Given the description of an element on the screen output the (x, y) to click on. 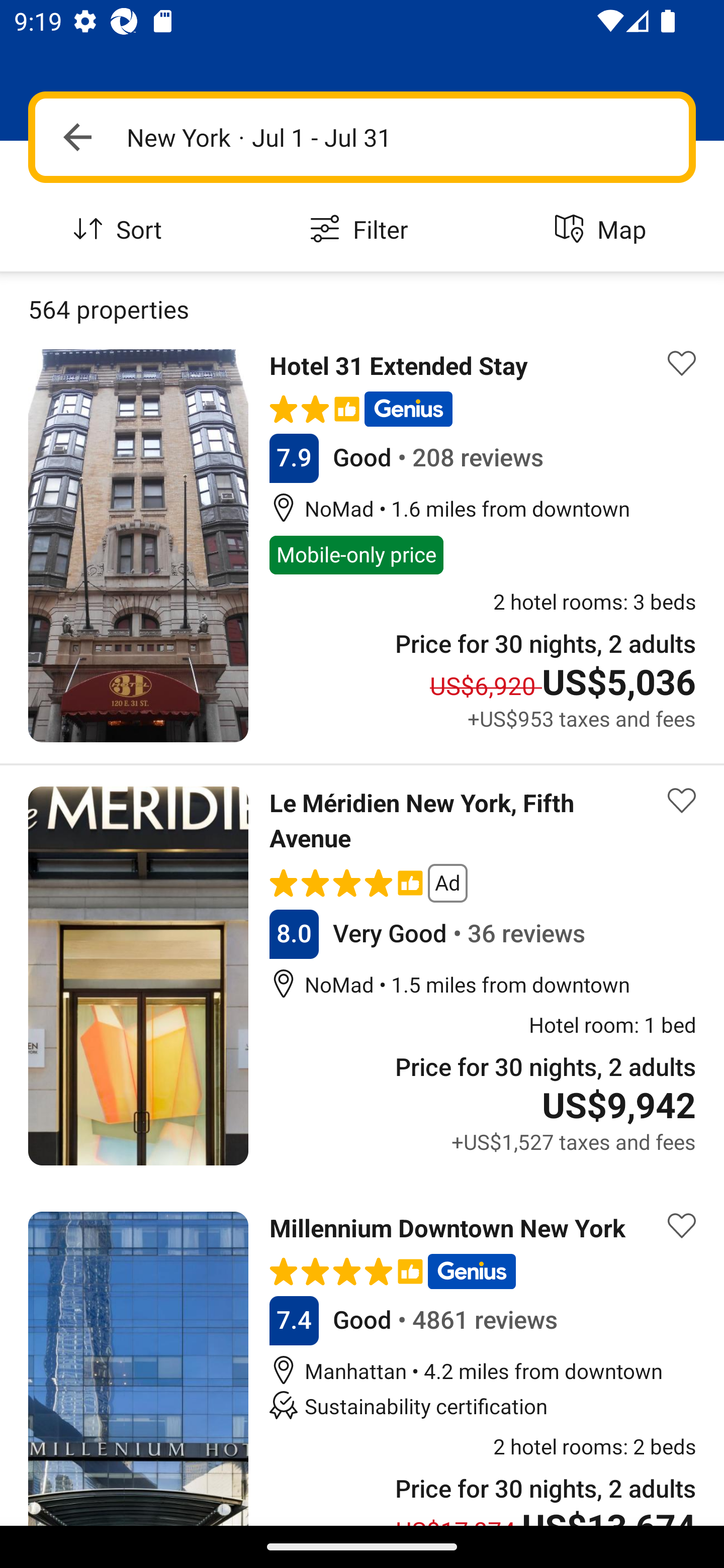
Navigate up New York · Jul 1 - Jul 31 (362, 136)
Navigate up (77, 136)
Sort (120, 230)
Filter (361, 230)
Map (603, 230)
Save property to list (681, 363)
Save property to list (681, 800)
Save property to list (681, 1225)
